Given the description of an element on the screen output the (x, y) to click on. 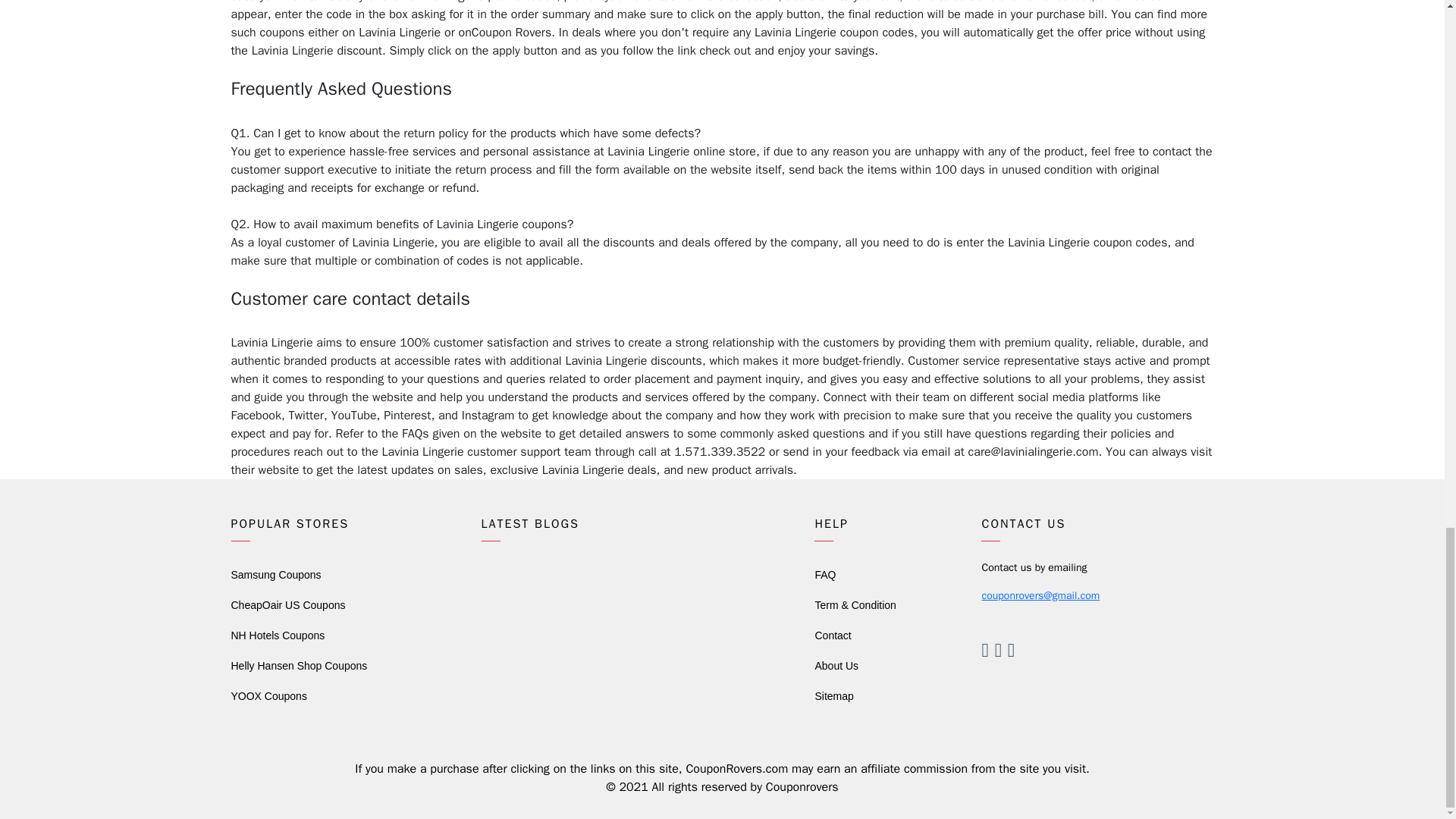
NH Hotels Coupons (277, 635)
Samsung Coupons (275, 574)
FAQ (824, 574)
YOOX Coupons (267, 695)
Contact (831, 635)
CheapOair US Coupons (287, 604)
Sitemap (833, 695)
Helly Hansen Shop Coupons (298, 665)
About Us (836, 665)
